Given the description of an element on the screen output the (x, y) to click on. 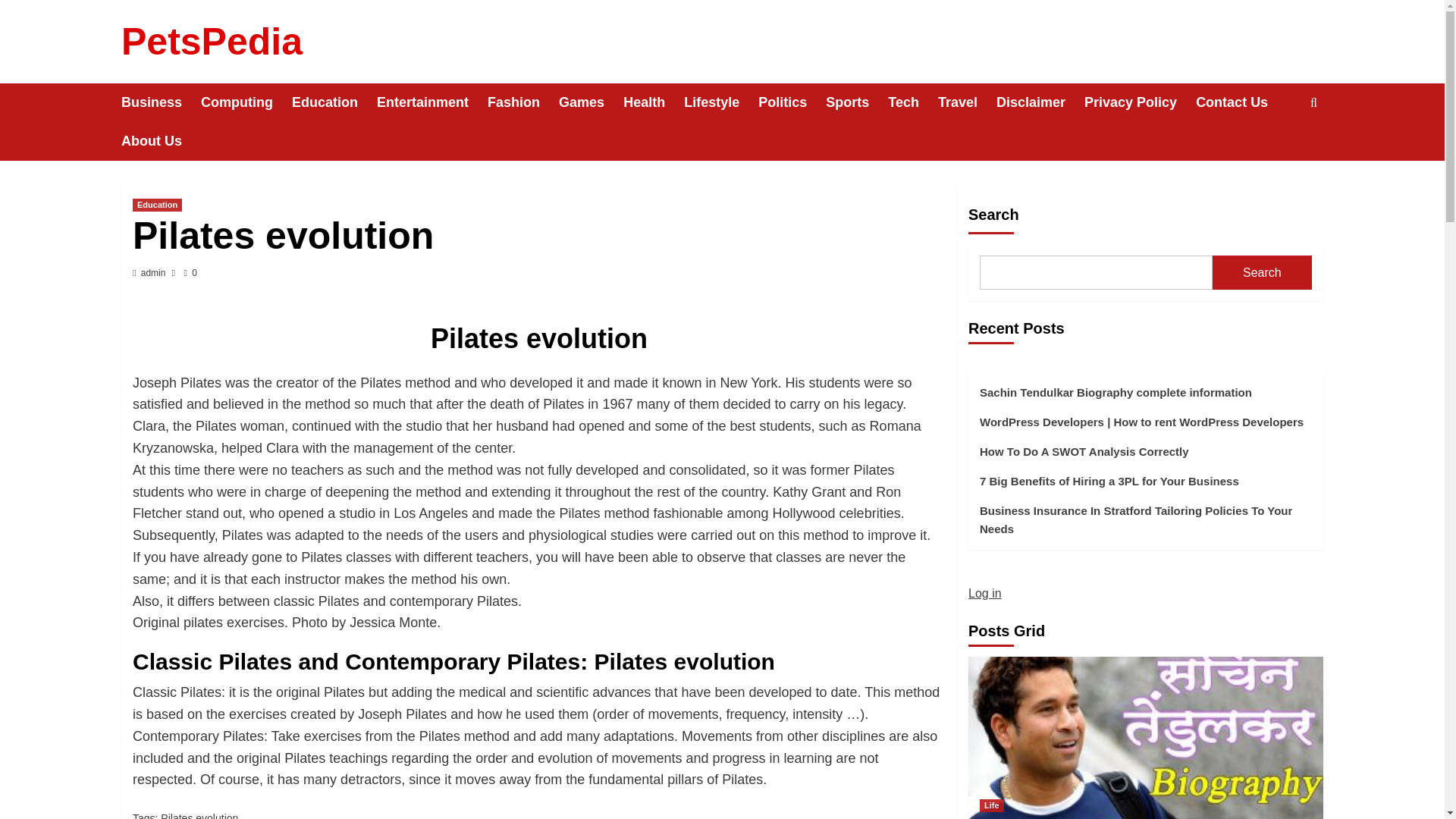
Disclaimer (1039, 102)
About Us (160, 141)
PetsPedia (211, 41)
admin (153, 272)
Privacy Policy (1139, 102)
Travel (966, 102)
Search (1278, 148)
Games (591, 102)
Fashion (523, 102)
Computing (246, 102)
Business (160, 102)
Pilates evolution (199, 815)
Education (334, 102)
Sports (856, 102)
Entertainment (432, 102)
